Given the description of an element on the screen output the (x, y) to click on. 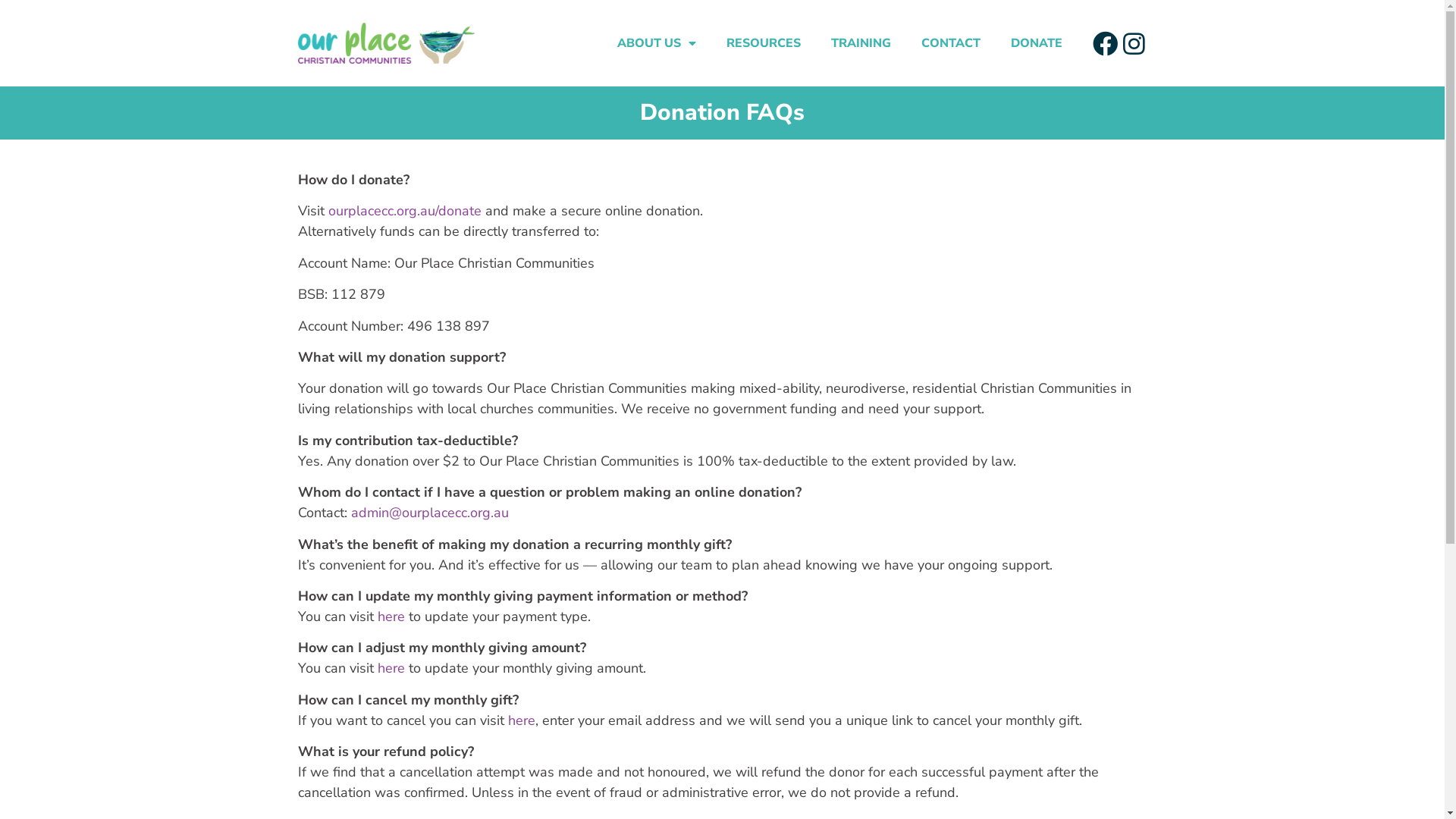
TRAINING Element type: text (860, 42)
CONTACT Element type: text (950, 42)
ABOUT US Element type: text (656, 42)
RESOURCES Element type: text (763, 42)
here Element type: text (521, 720)
ourplacecc.org.au/donate Element type: text (403, 210)
here Element type: text (390, 616)
DONATE Element type: text (1036, 42)
here Element type: text (390, 667)
admin@ourplacecc.org.au Element type: text (429, 512)
